Given the description of an element on the screen output the (x, y) to click on. 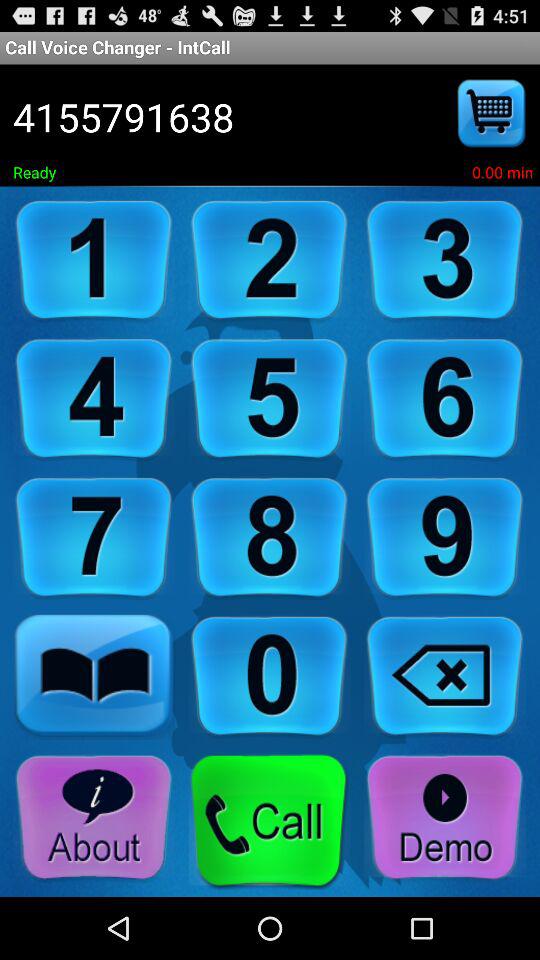
eight (269, 538)
